Given the description of an element on the screen output the (x, y) to click on. 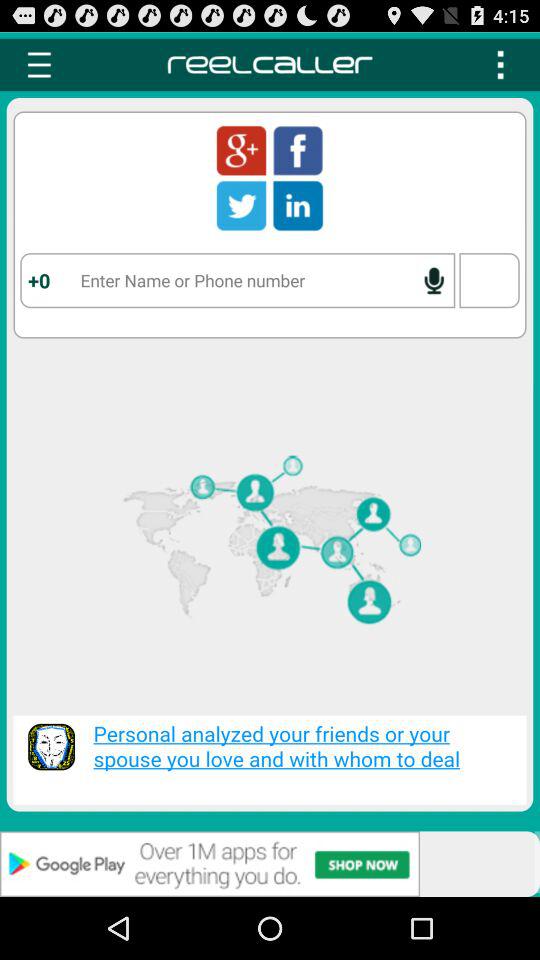
go to recorder (434, 280)
